Given the description of an element on the screen output the (x, y) to click on. 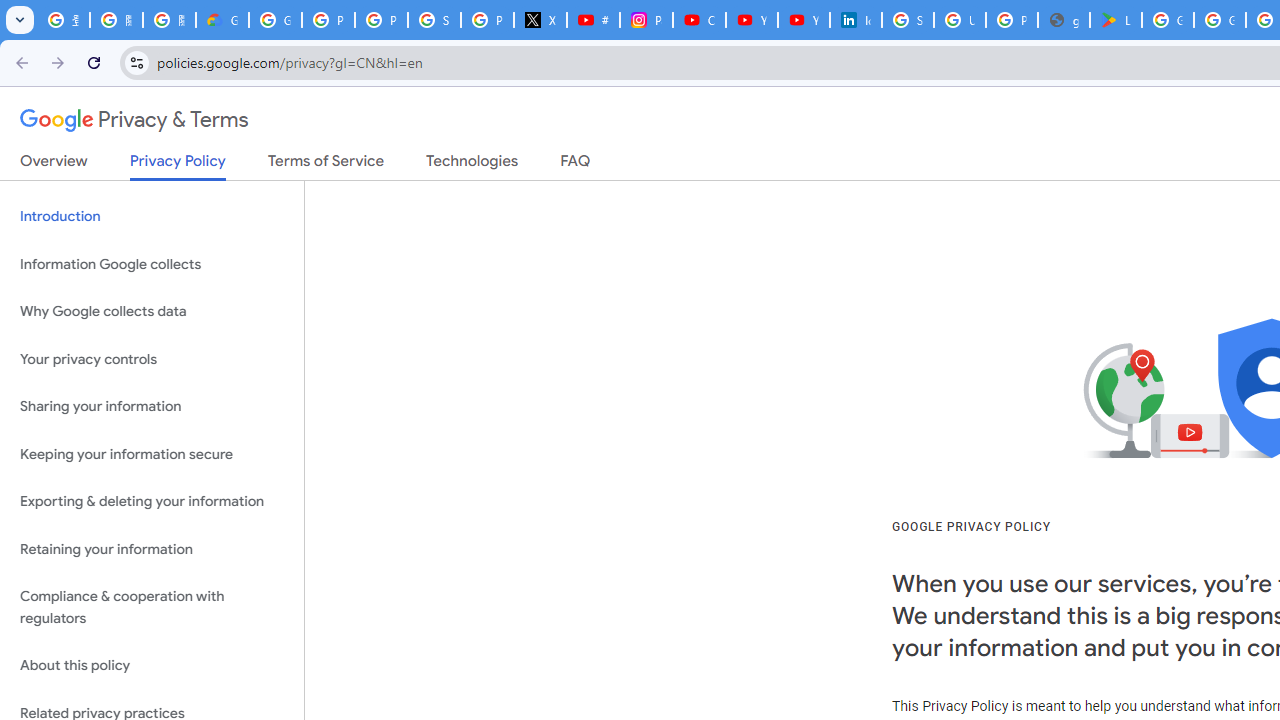
Google Cloud Privacy Notice (222, 20)
Last Shelter: Survival - Apps on Google Play (1115, 20)
X (540, 20)
